Given the description of an element on the screen output the (x, y) to click on. 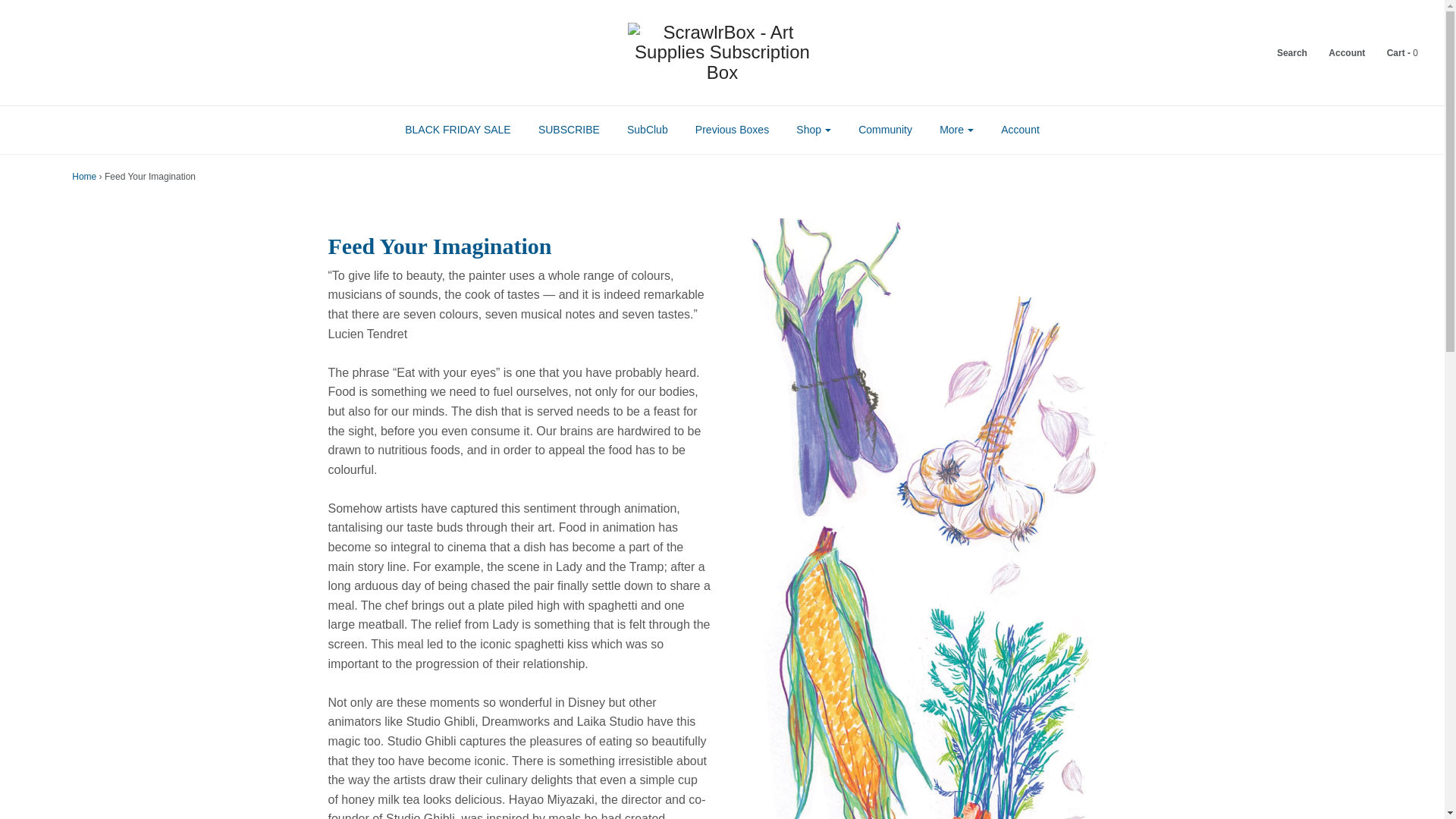
Cart (1393, 52)
Search (1282, 52)
Previous Boxes (732, 129)
SUBSCRIBE (569, 129)
Log in (1336, 52)
Search (1282, 52)
Cart - 0 (1393, 52)
BLACK FRIDAY SALE (457, 129)
Account (1336, 52)
SubClub (647, 129)
